Given the description of an element on the screen output the (x, y) to click on. 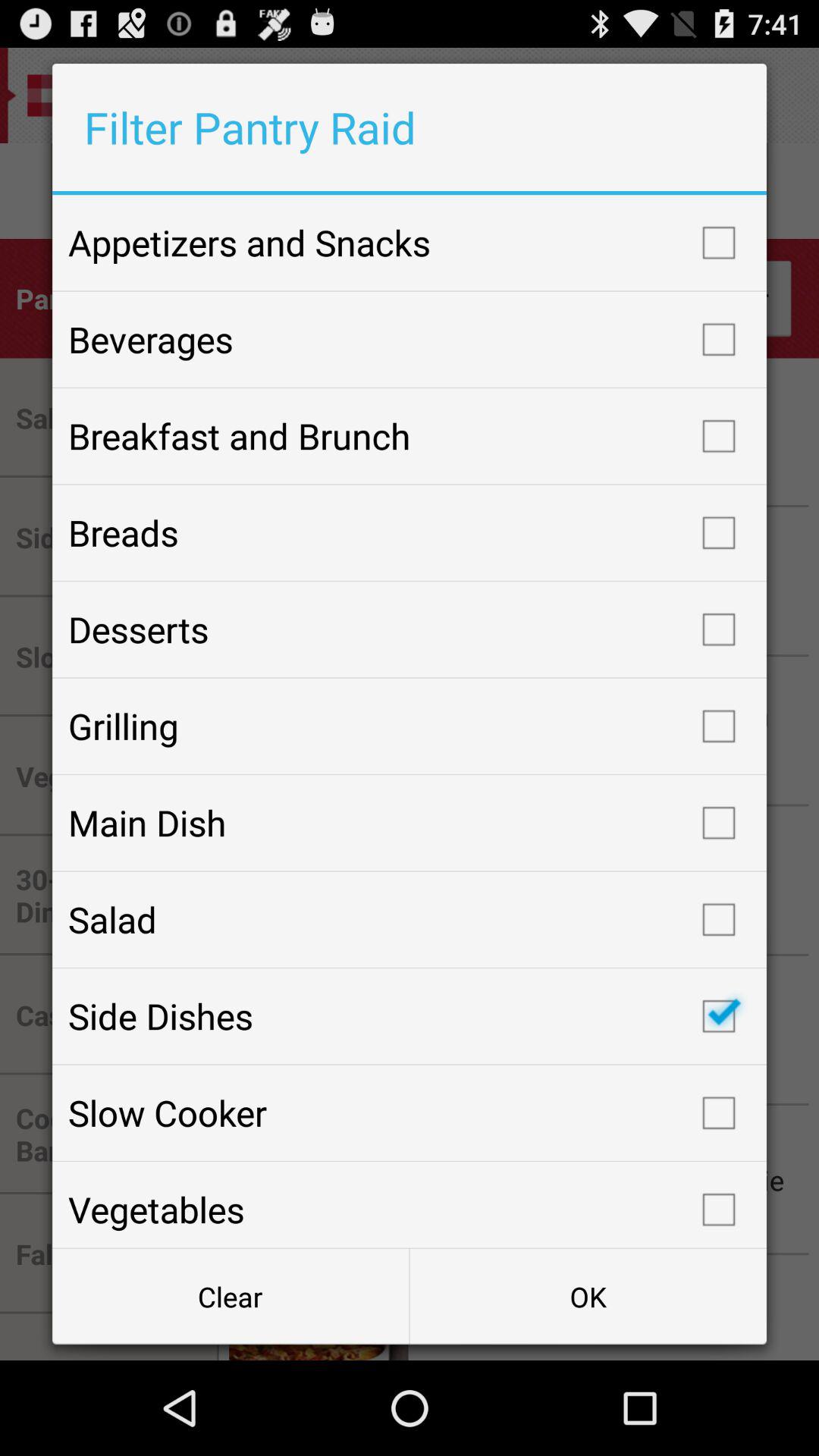
press the slow cooker (409, 1112)
